Given the description of an element on the screen output the (x, y) to click on. 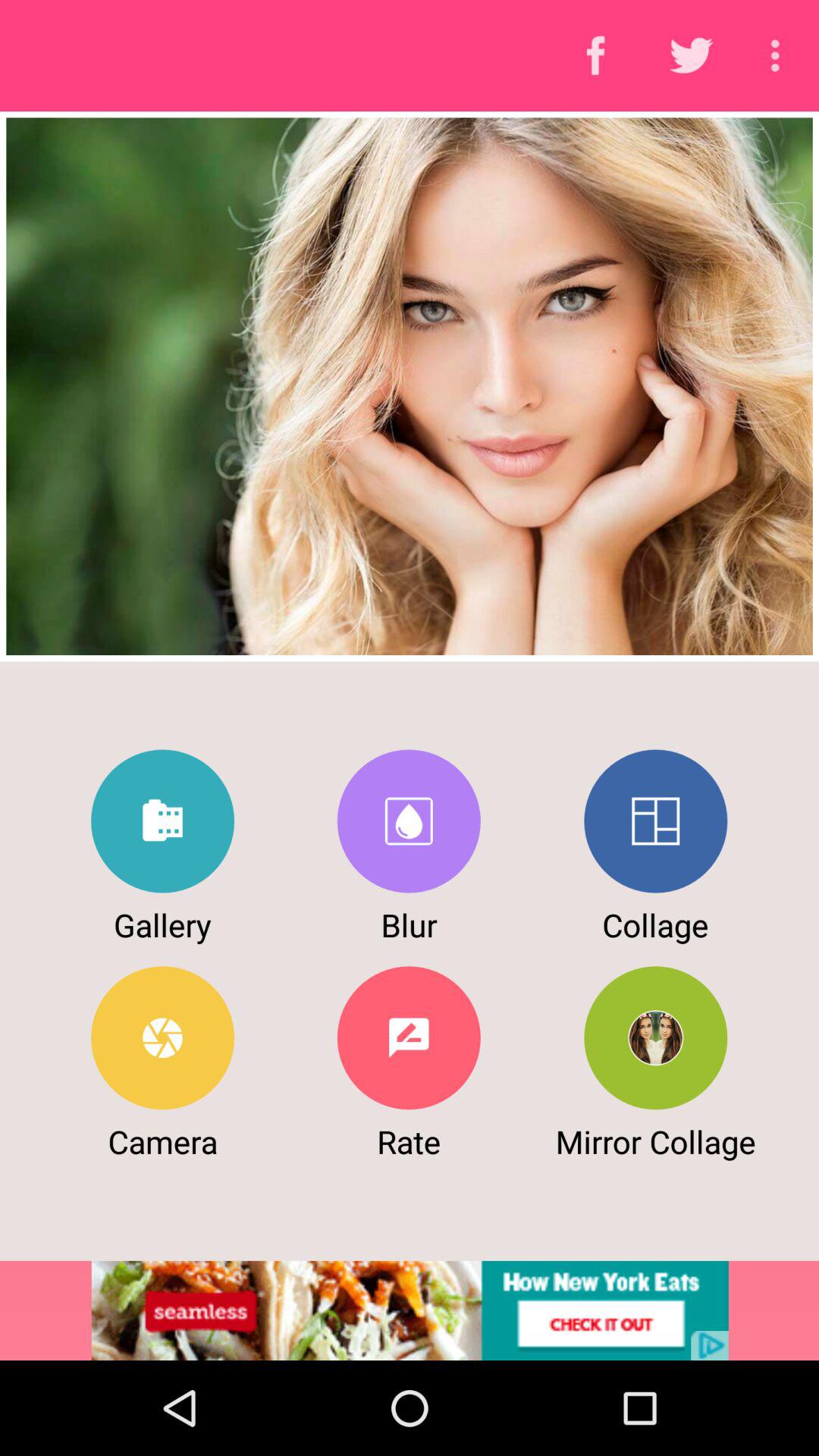
select to gallery option (162, 820)
